Given the description of an element on the screen output the (x, y) to click on. 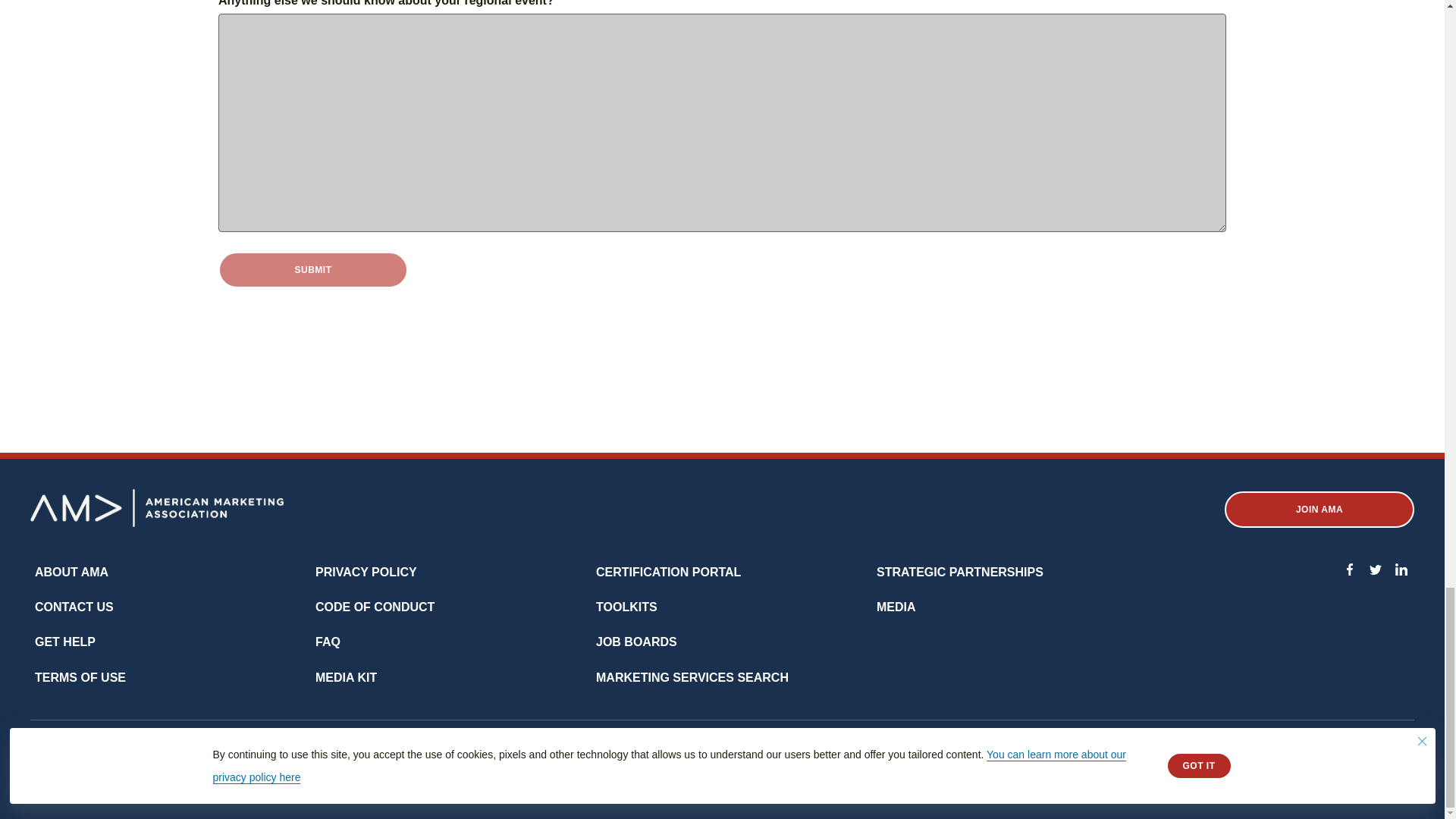
Submit (312, 269)
ABOUT AMA (70, 572)
JOIN AMA (1318, 509)
Submit (312, 269)
